Given the description of an element on the screen output the (x, y) to click on. 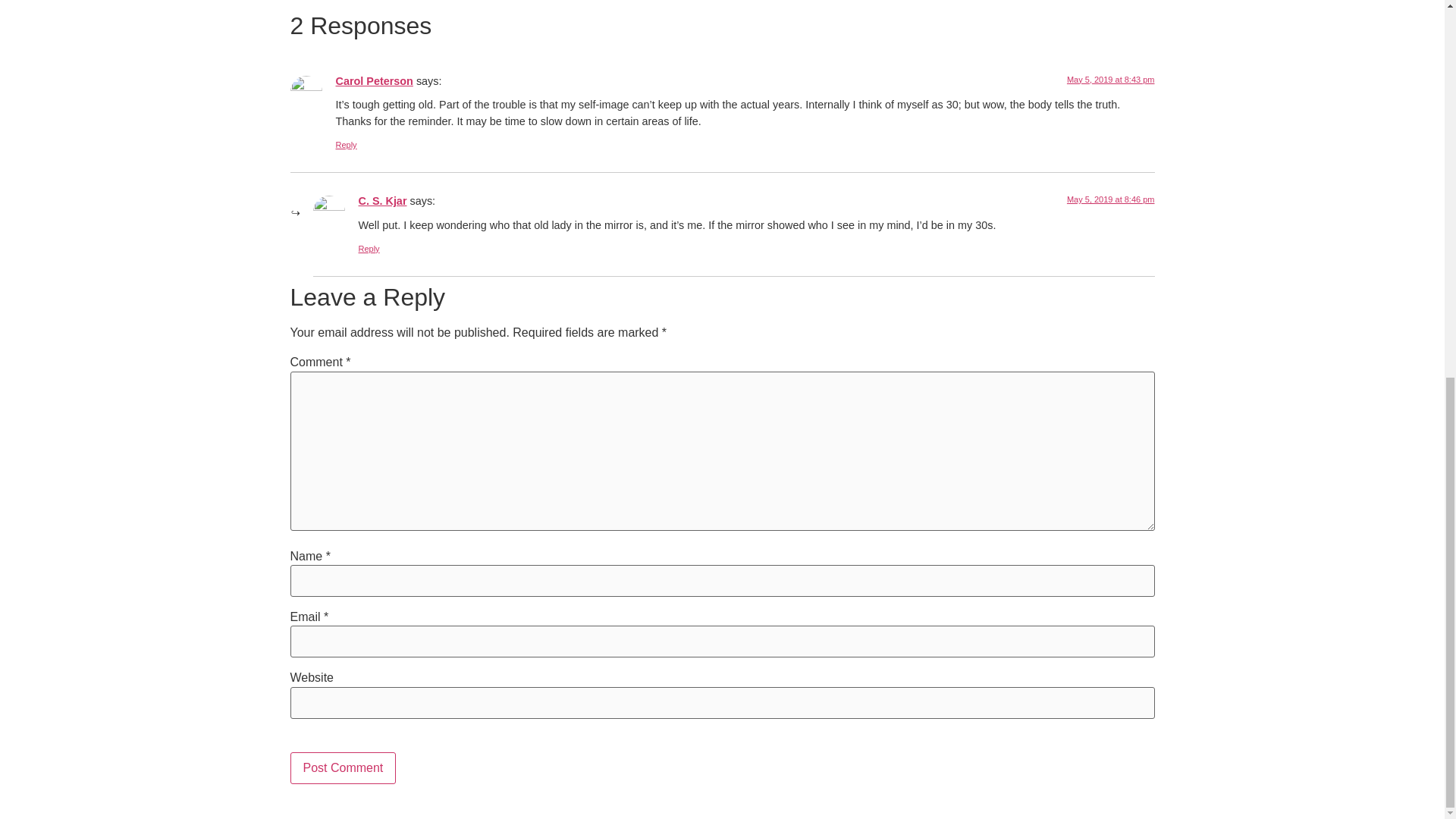
C. S. Kjar (382, 200)
May 5, 2019 at 8:46 pm (1110, 198)
Post Comment (342, 767)
May 5, 2019 at 8:43 pm (1110, 79)
Reply (345, 144)
Reply (368, 248)
Post Comment (342, 767)
Carol Peterson (373, 80)
